Given the description of an element on the screen output the (x, y) to click on. 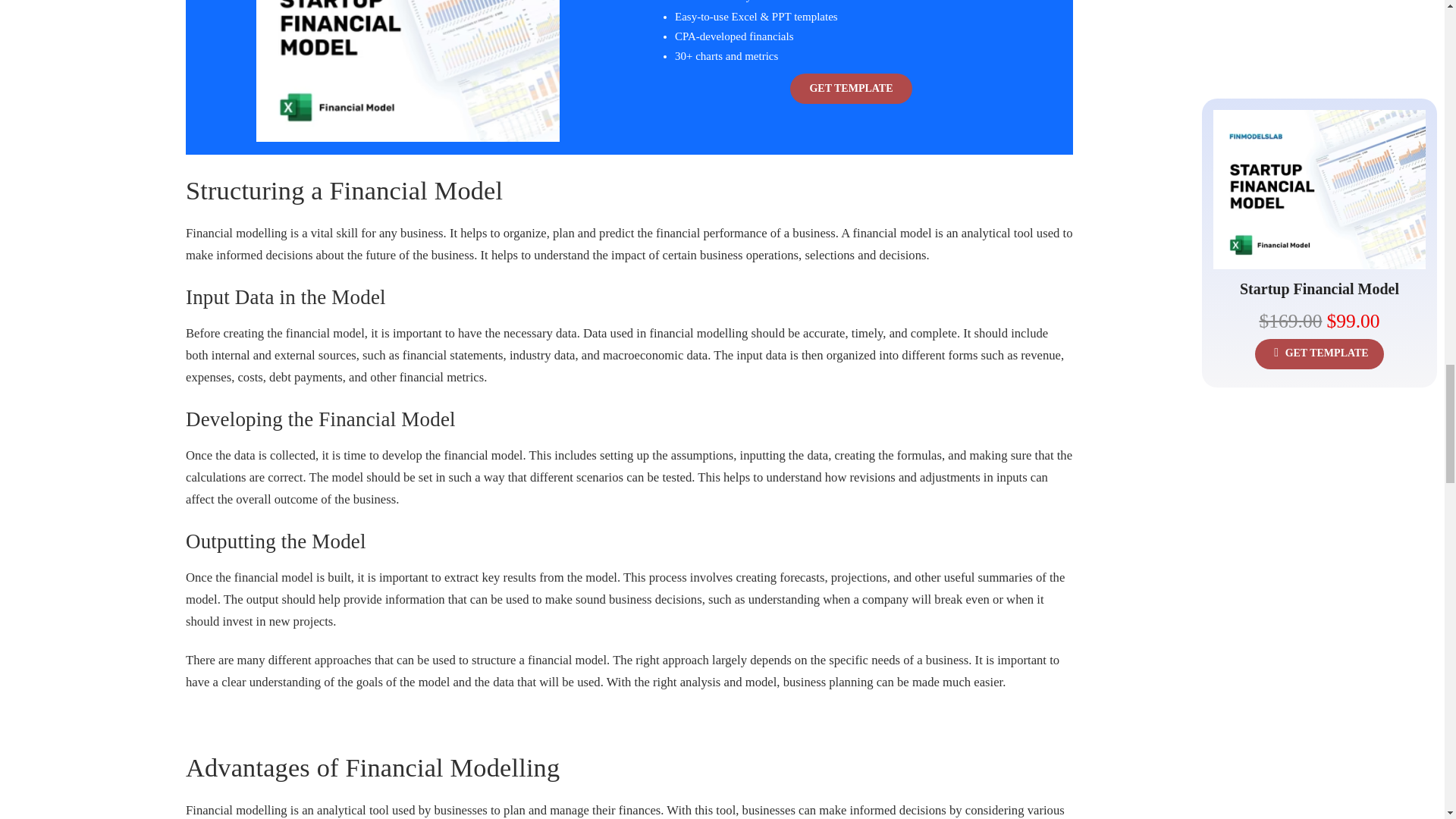
GET TEMPLATE (850, 88)
